Given the description of an element on the screen output the (x, y) to click on. 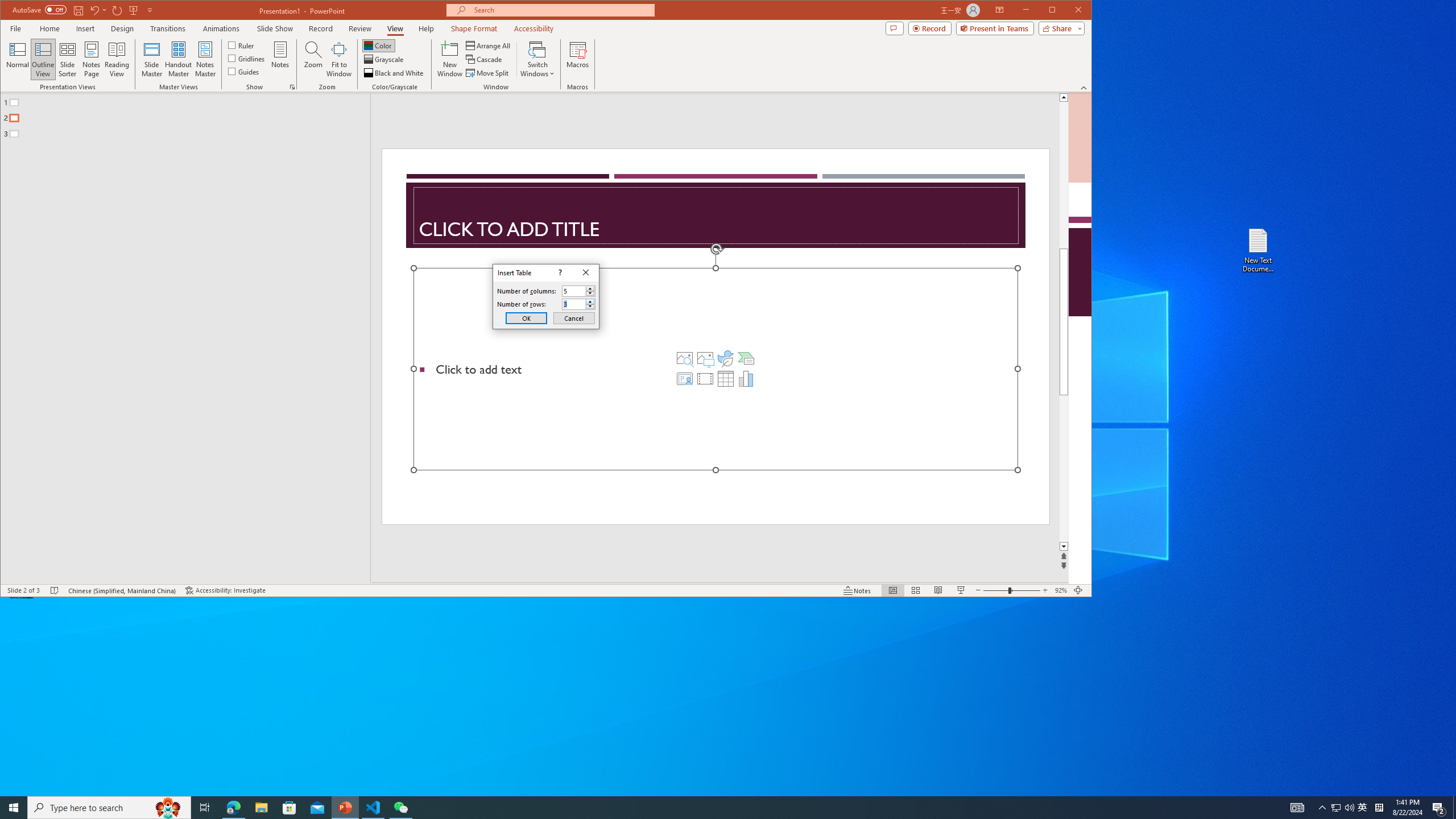
Running applications (707, 807)
